Given the description of an element on the screen output the (x, y) to click on. 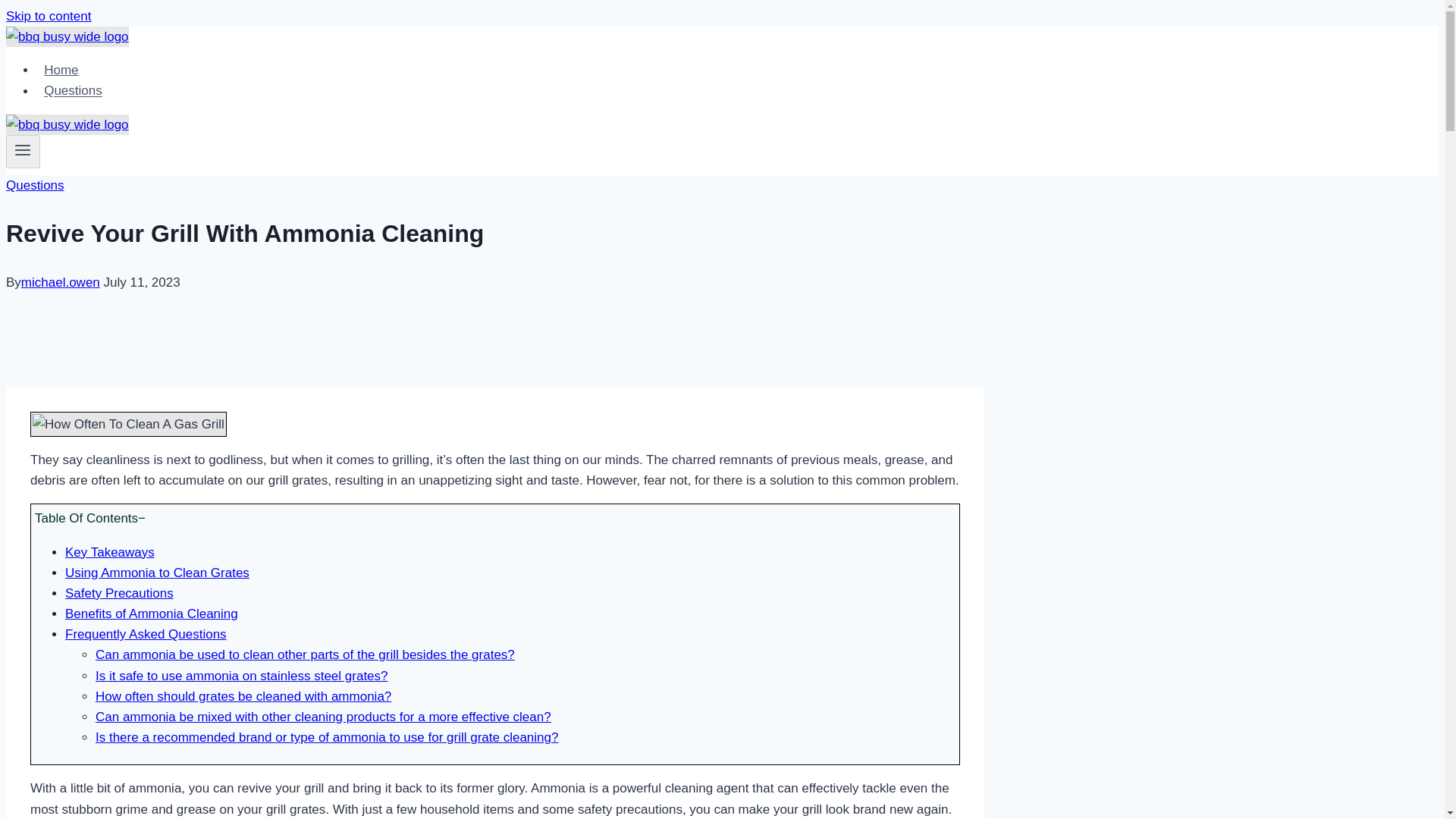
Toggle Menu (22, 149)
Safety Precautions (119, 593)
Toggle Menu (22, 151)
Questions (73, 90)
Skip to content (47, 16)
Using Ammonia to Clean Grates (156, 572)
Questions (34, 185)
Key Takeaways (109, 551)
Is it safe to use ammonia on stainless steel grates? (242, 676)
michael.owen (60, 282)
Frequently Asked Questions (146, 634)
Benefits of Ammonia Cleaning (151, 613)
